Given the description of an element on the screen output the (x, y) to click on. 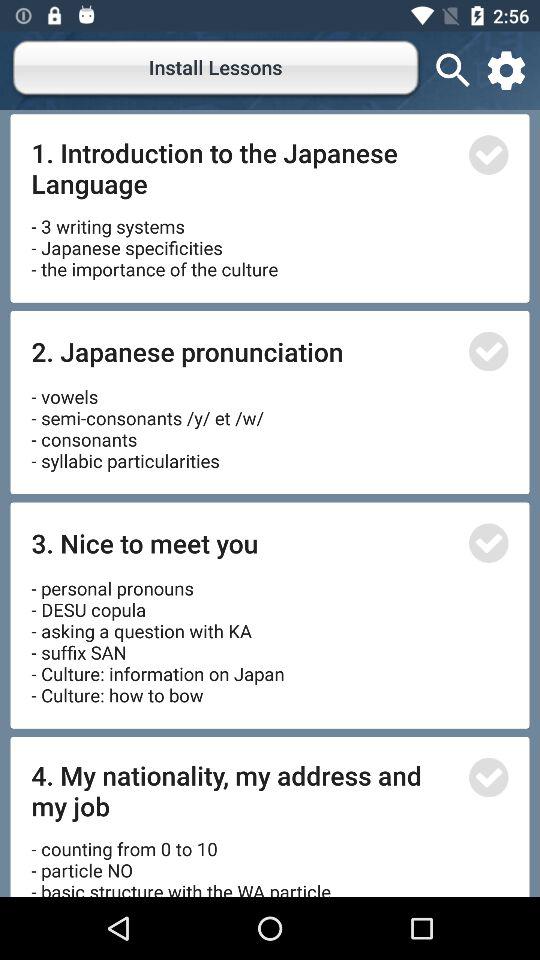
select icon below 1 introduction to (154, 240)
